Given the description of an element on the screen output the (x, y) to click on. 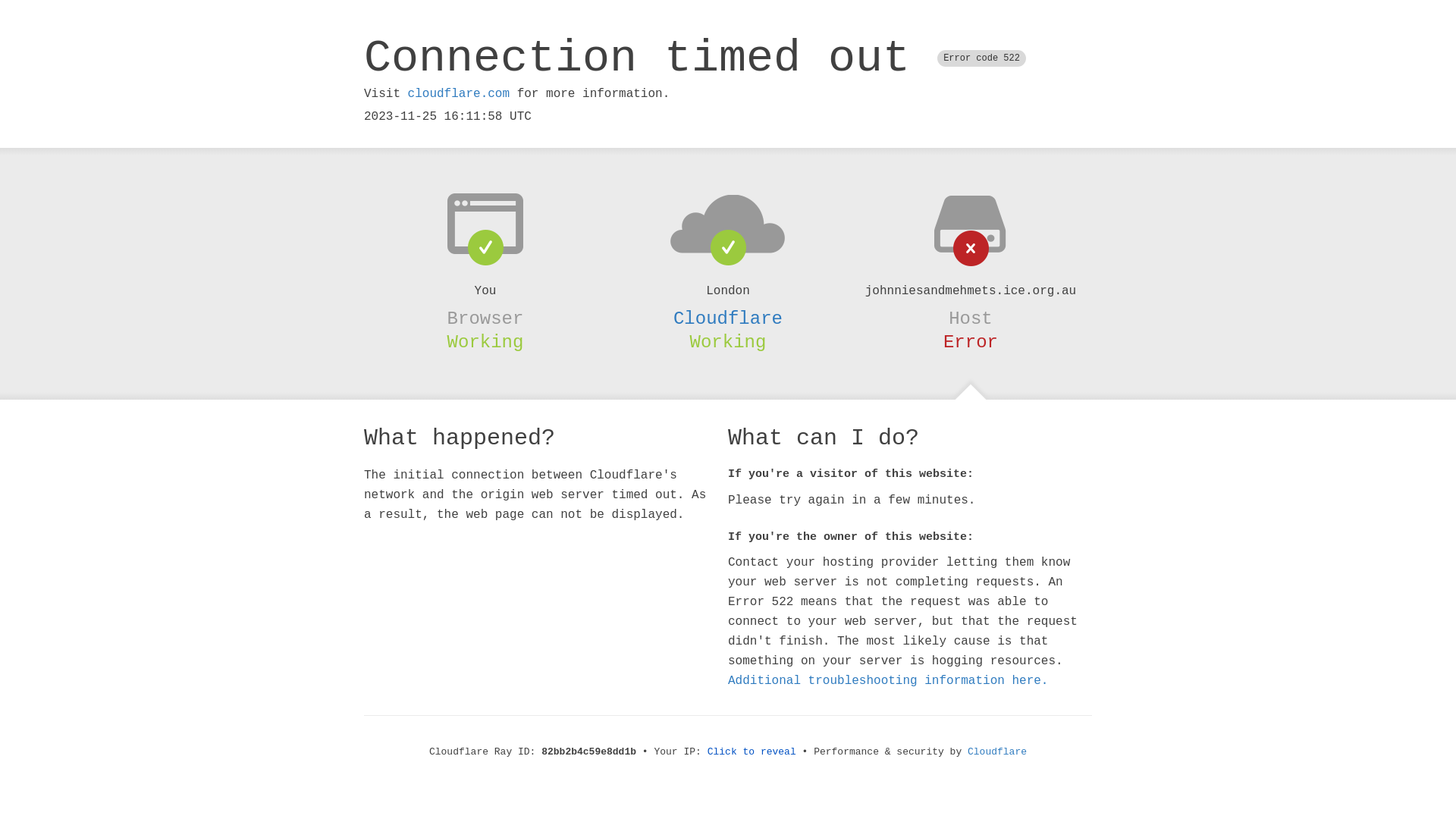
Additional troubleshooting information here. Element type: text (888, 680)
Click to reveal Element type: text (751, 751)
Cloudflare Element type: text (996, 751)
cloudflare.com Element type: text (458, 93)
Cloudflare Element type: text (727, 318)
